Given the description of an element on the screen output the (x, y) to click on. 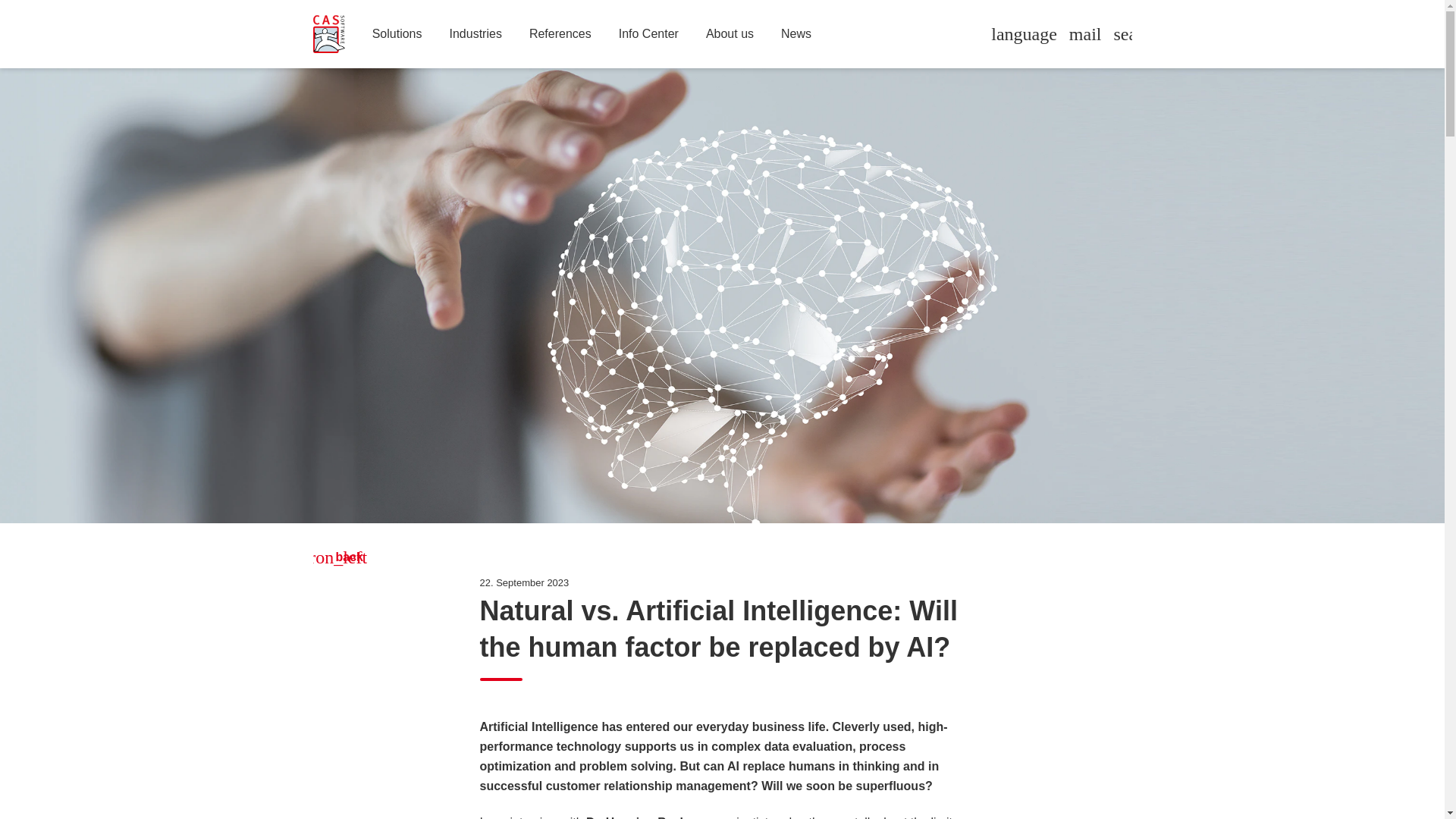
Industries (475, 34)
Solutions (397, 34)
